Given the description of an element on the screen output the (x, y) to click on. 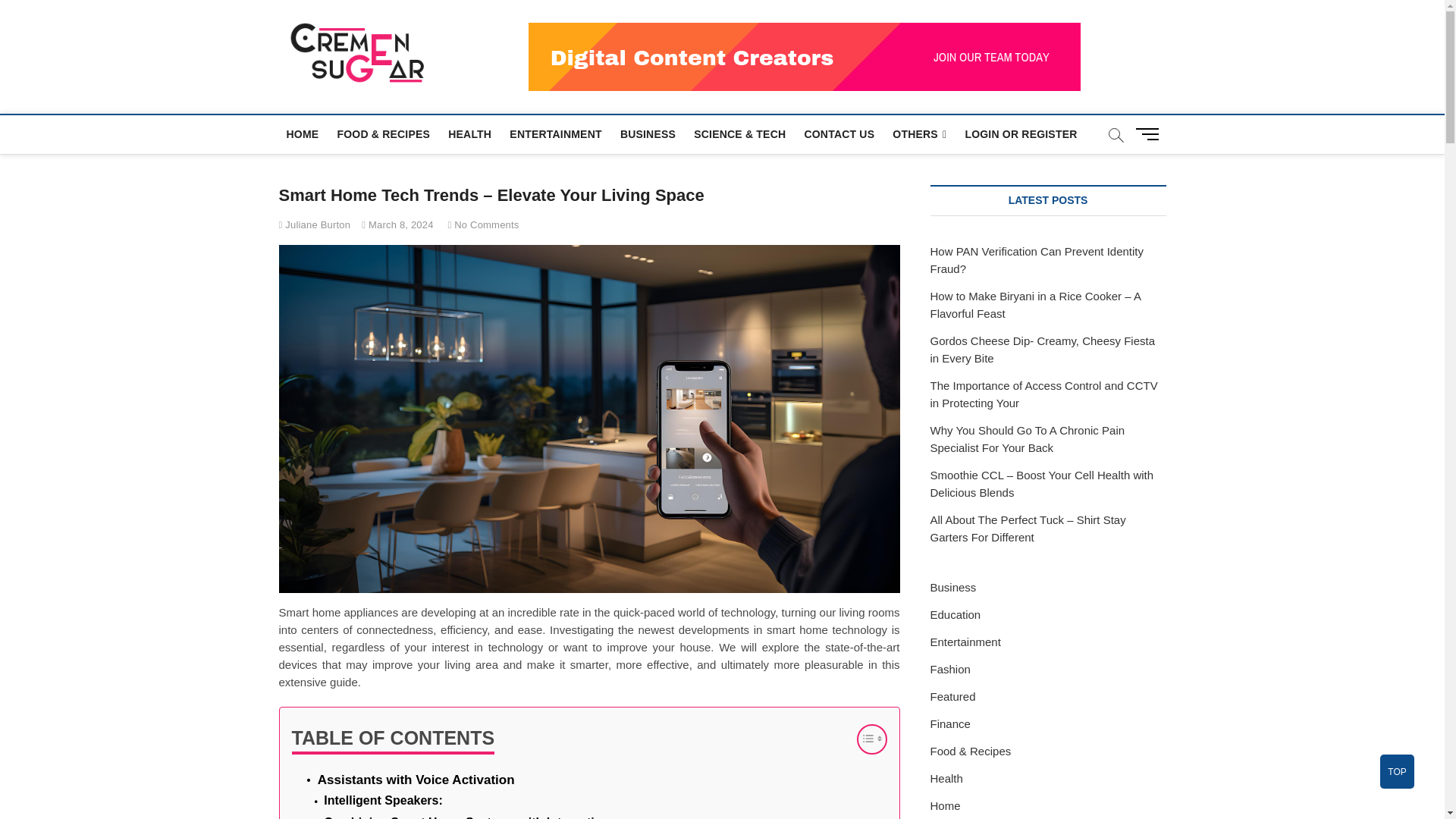
Combining Smart Home Systems with Integration: (467, 816)
March 8, 2024 (396, 224)
CremeNsugar (520, 50)
CONTACT US (839, 134)
HOME (302, 134)
OTHERS (919, 134)
BUSINESS (647, 134)
ENTERTAINMENT (555, 134)
CremeNsugar (520, 50)
HEALTH (470, 134)
LOGIN OR REGISTER (1020, 134)
Intelligent Speakers: (382, 800)
Menu Button (1150, 133)
Assistants with Voice Activation (416, 779)
